Given the description of an element on the screen output the (x, y) to click on. 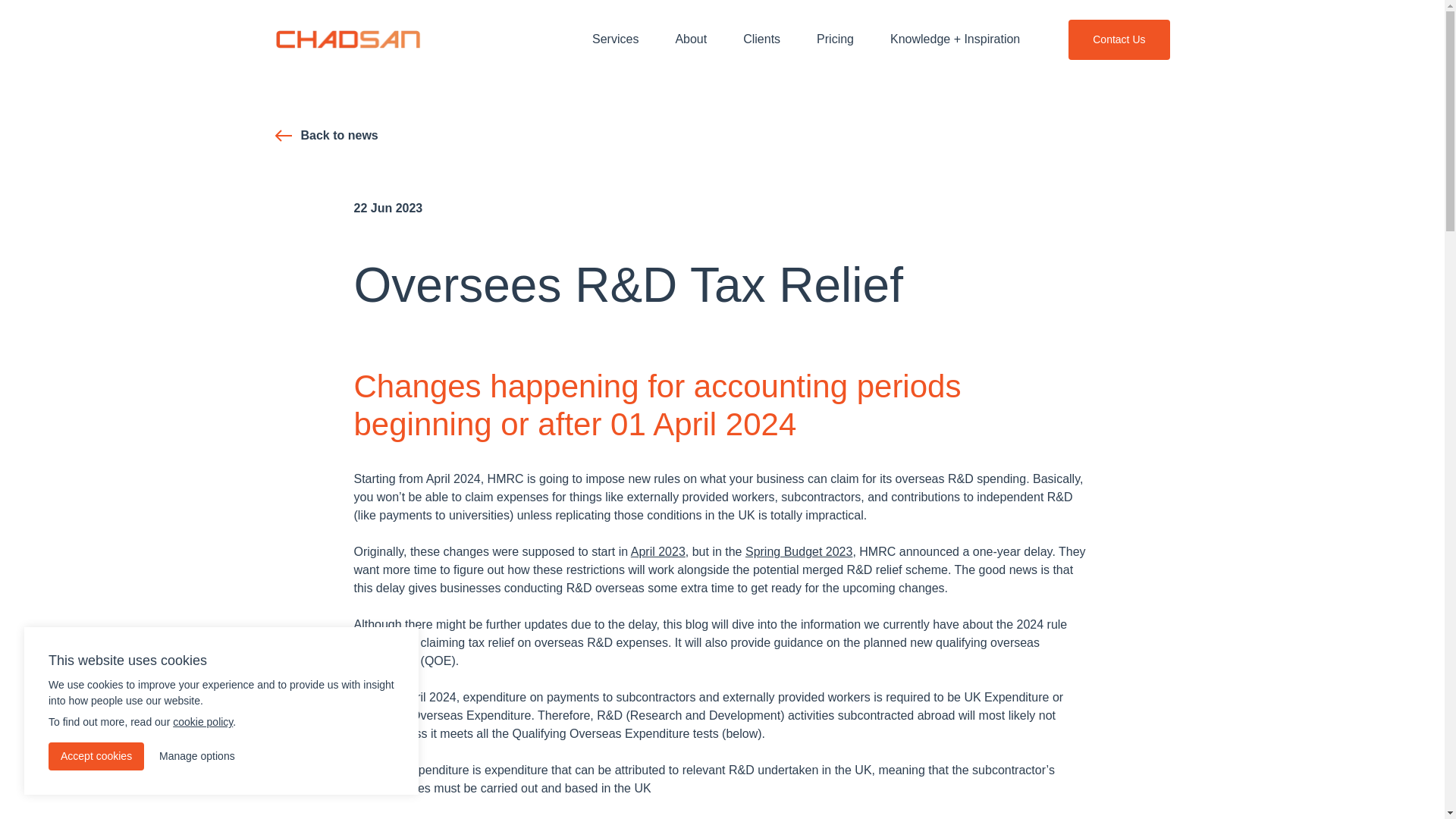
About (690, 39)
Services (614, 39)
Pricing (834, 39)
Clients (761, 39)
Contact Us (1118, 39)
